Given the description of an element on the screen output the (x, y) to click on. 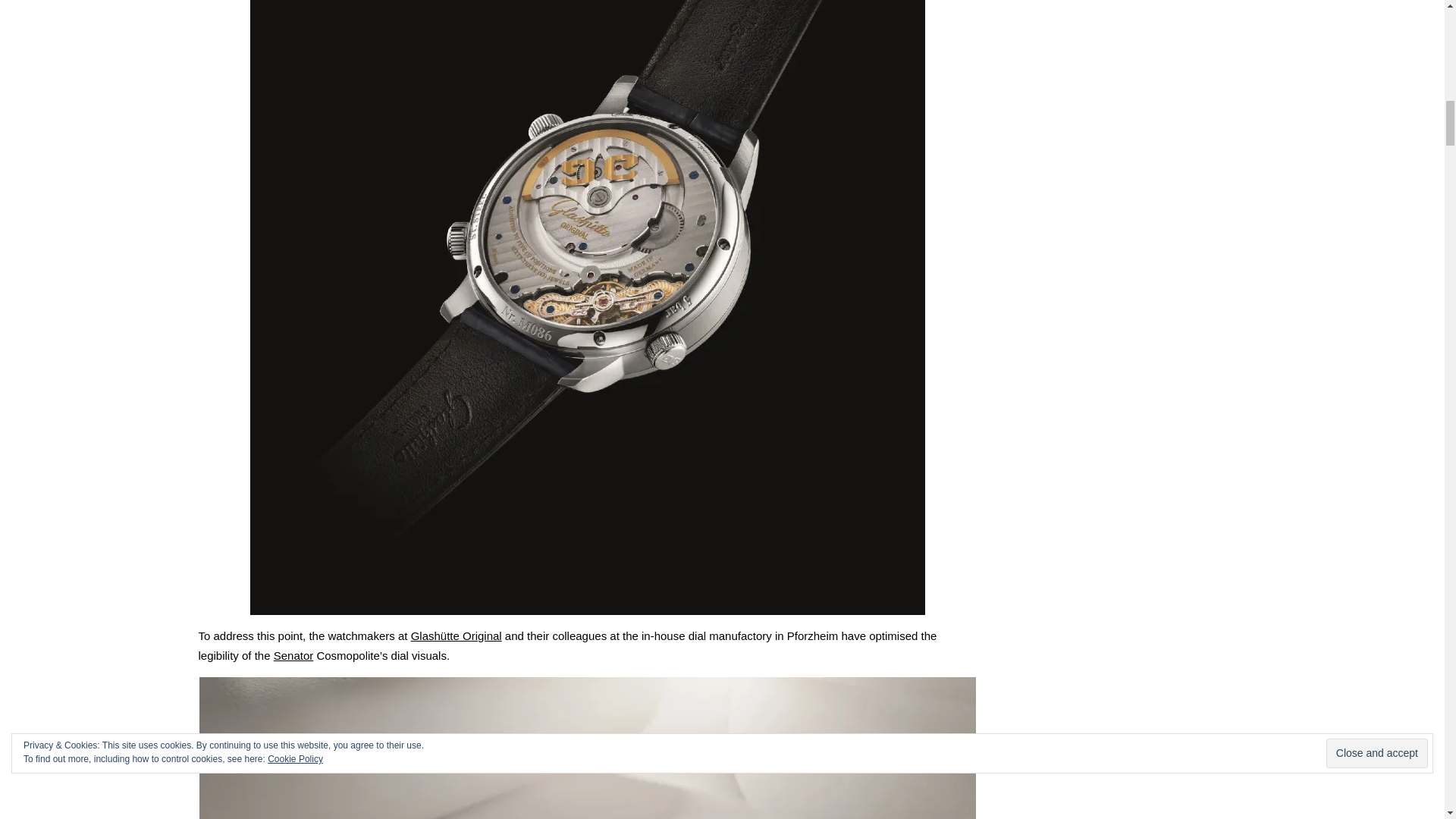
Senator (293, 655)
